Given the description of an element on the screen output the (x, y) to click on. 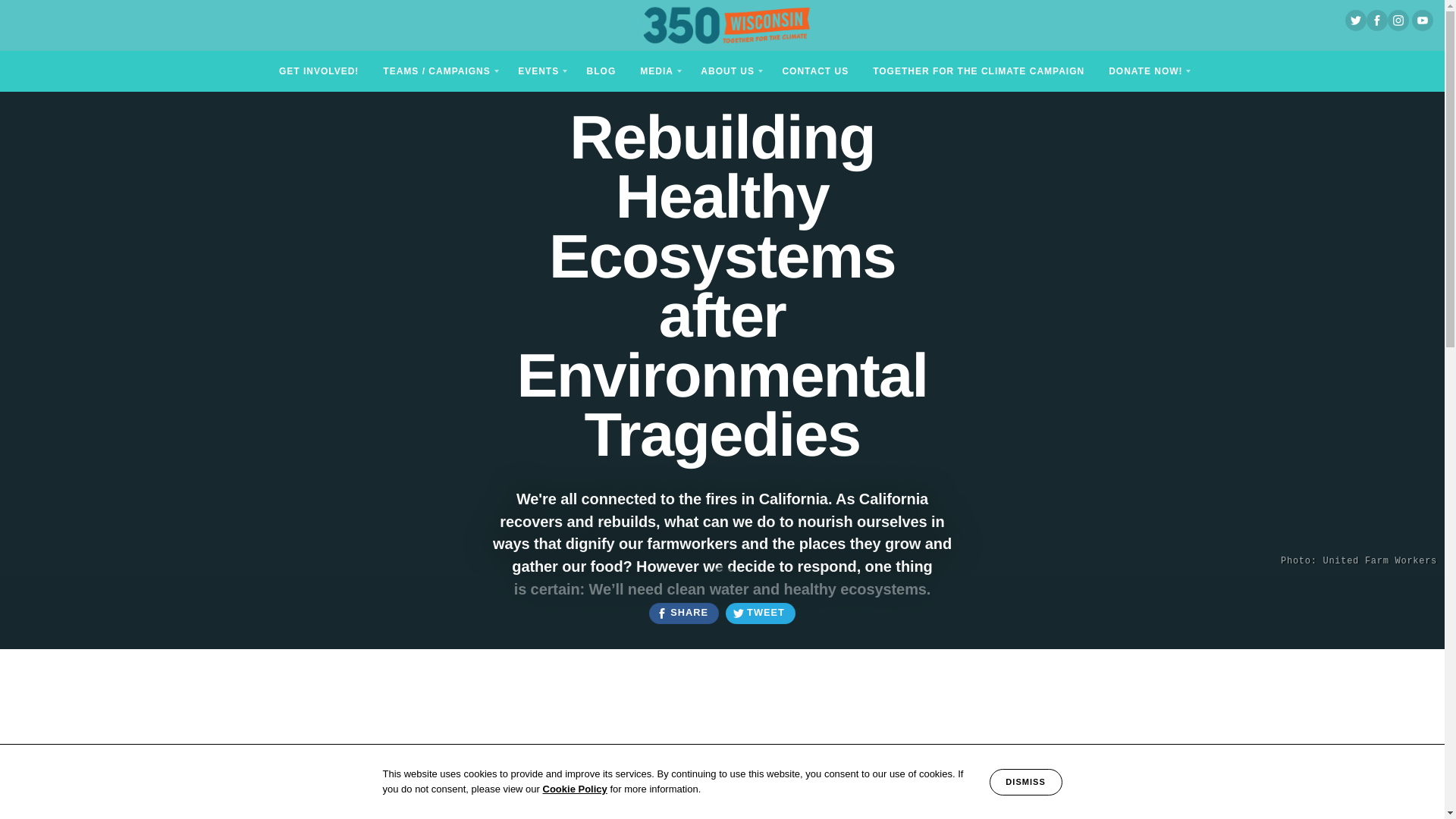
ABOUT US (729, 70)
GET INVOLVED! (318, 70)
BLOG (601, 70)
MEDIA (657, 70)
TOGETHER FOR THE CLIMATE CAMPAIGN (978, 70)
EVENTS (539, 70)
DONATE NOW! (1147, 70)
CONTACT US (815, 70)
